Given the description of an element on the screen output the (x, y) to click on. 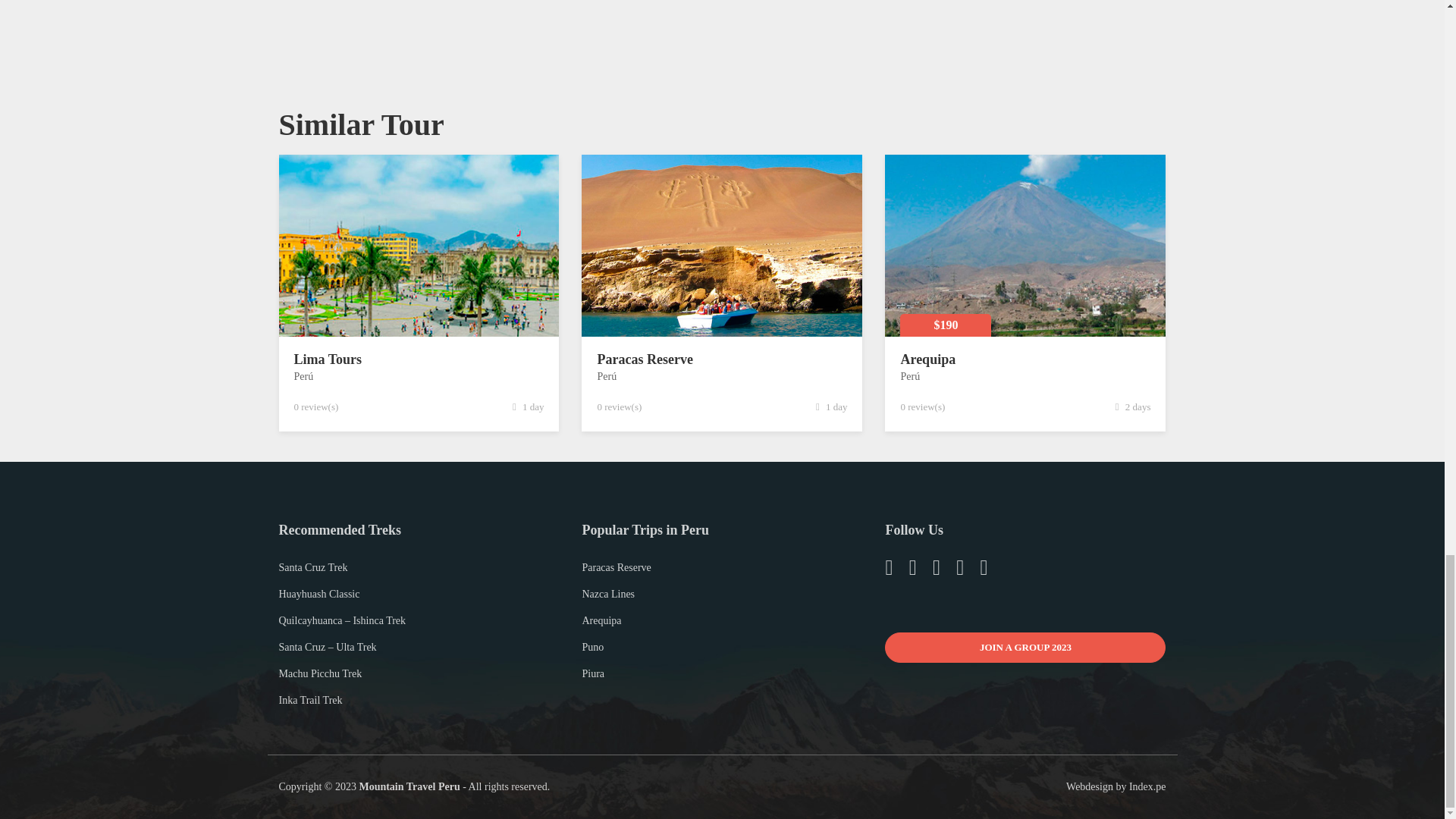
Paracas Reserve (644, 359)
Lima Tours (328, 359)
